Given the description of an element on the screen output the (x, y) to click on. 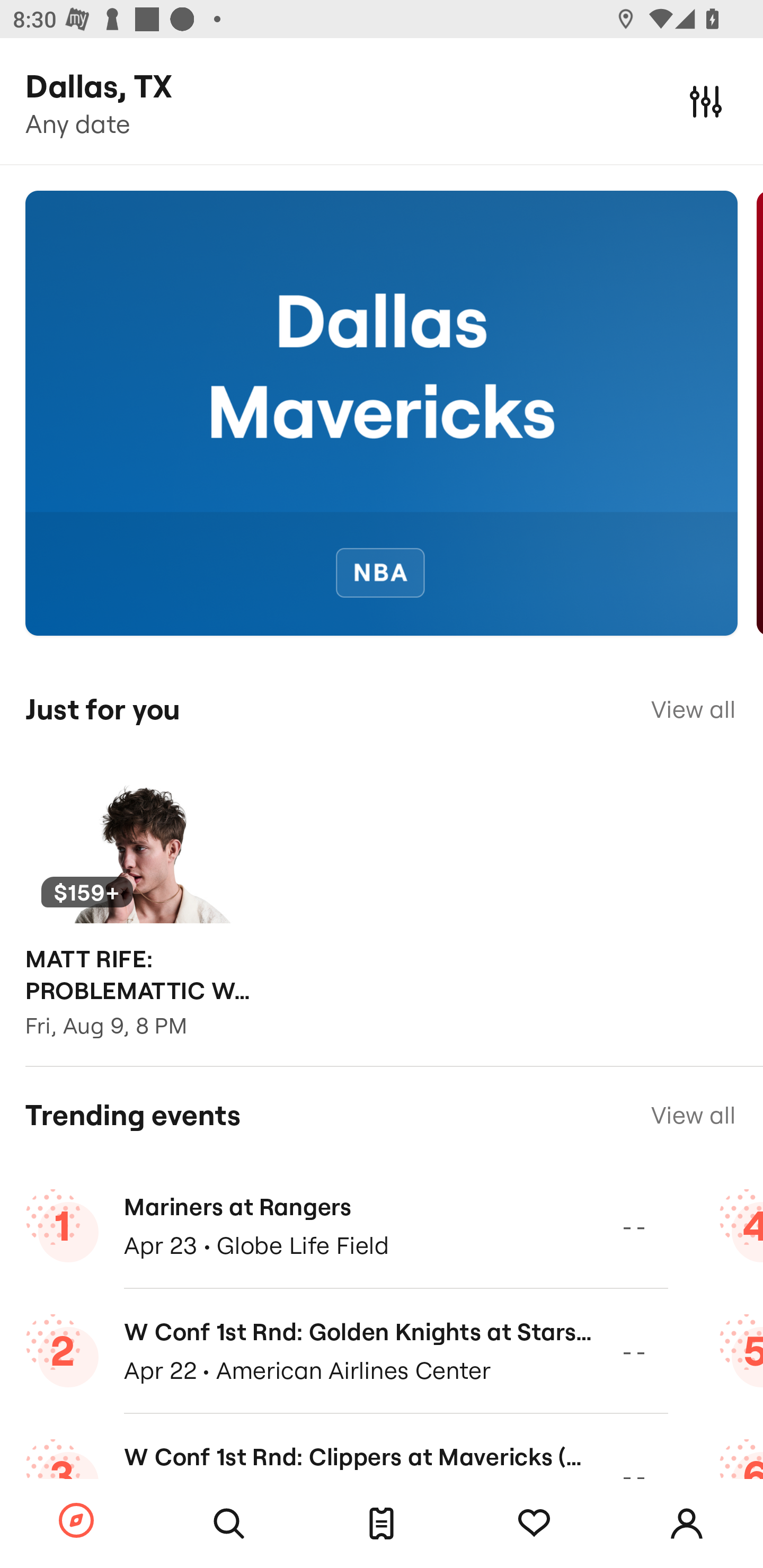
Filters (705, 100)
View all (693, 709)
View all (693, 1114)
Browse (76, 1521)
Search (228, 1523)
Tickets (381, 1523)
Tracking (533, 1523)
Account (686, 1523)
